Given the description of an element on the screen output the (x, y) to click on. 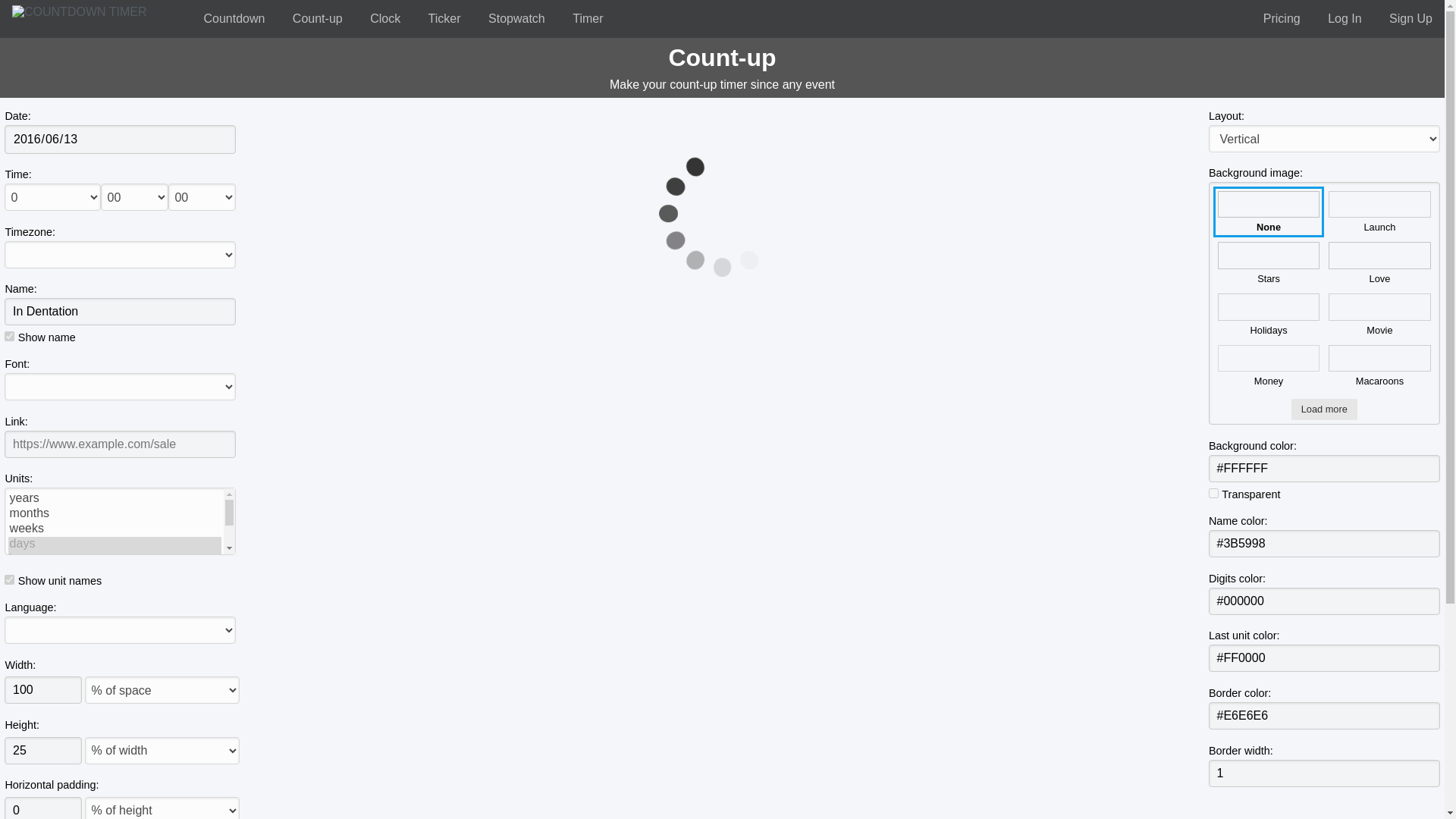
Load more (1323, 409)
Ticker (444, 18)
100 (42, 689)
Count-up (318, 18)
on (9, 579)
Pricing (1281, 18)
on (1213, 492)
Countdown (233, 18)
Timer (587, 18)
Stopwatch (516, 18)
Online Stopwatch (516, 18)
Online Timer (587, 18)
Countdown Timer (233, 18)
Log In (1344, 18)
Ticker (444, 18)
